Given the description of an element on the screen output the (x, y) to click on. 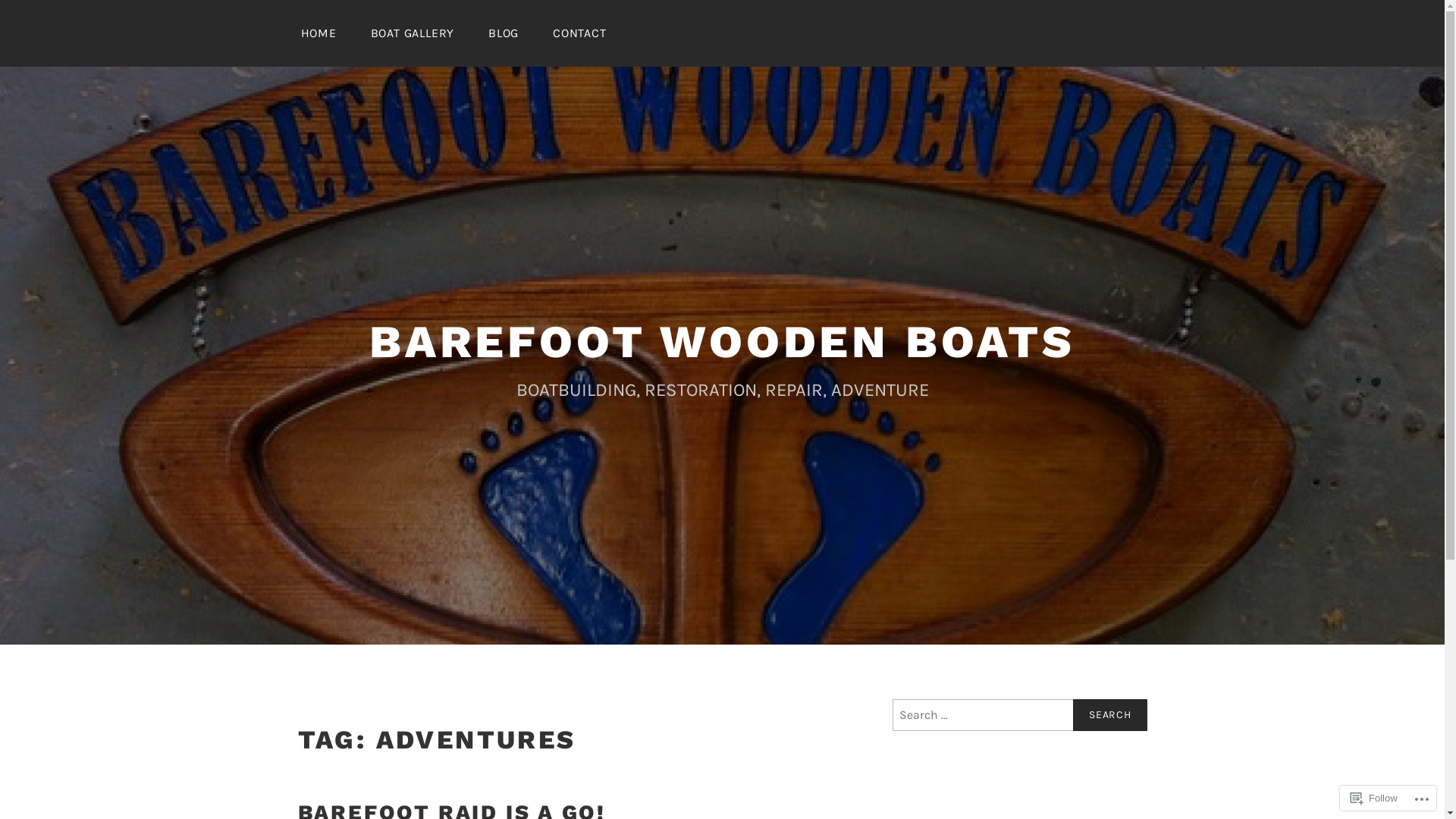
Search Element type: text (1109, 715)
BLOG Element type: text (503, 33)
HOME Element type: text (318, 33)
Follow Element type: text (1373, 797)
CONTACT Element type: text (579, 33)
BOAT GALLERY Element type: text (412, 33)
BAREFOOT WOODEN BOATS Element type: text (722, 341)
